Given the description of an element on the screen output the (x, y) to click on. 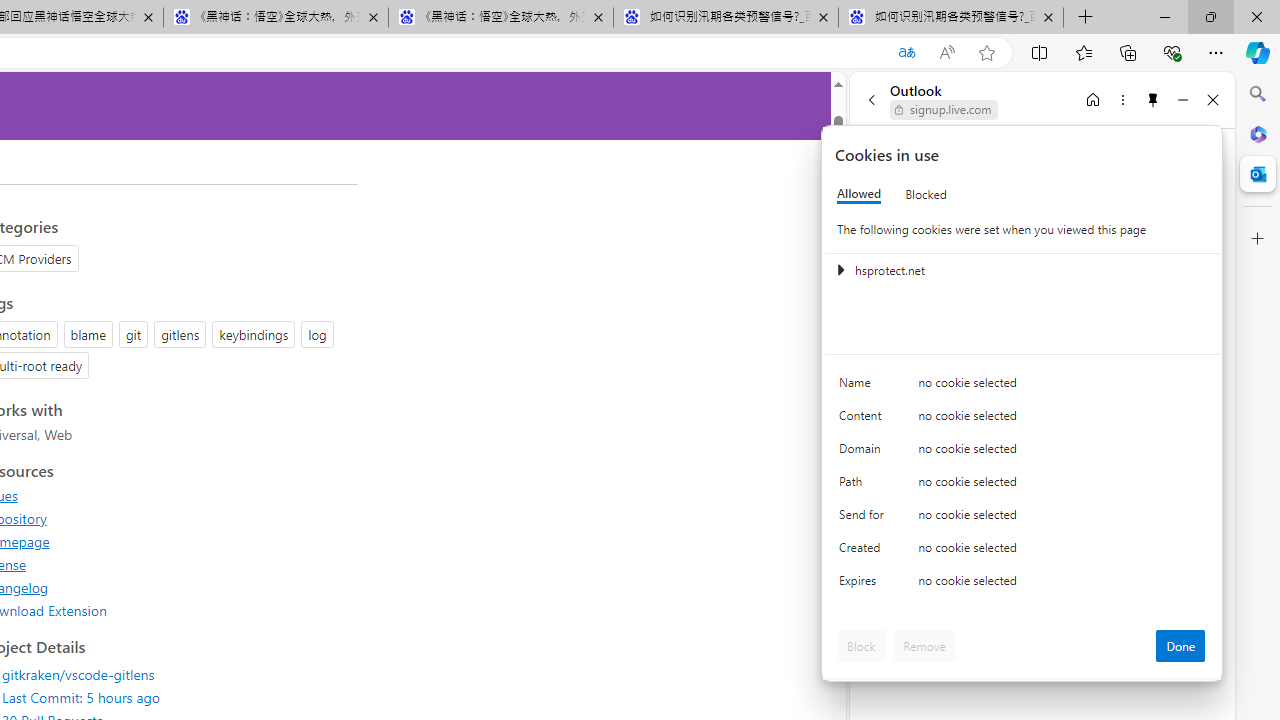
Path (864, 485)
Allowed (859, 193)
Block (861, 645)
Class: c0153 c0157 (1023, 584)
Class: c0153 c0157 c0154 (1023, 386)
Name (864, 387)
Done (1179, 645)
no cookie selected (1062, 585)
Expires (864, 585)
Created (864, 552)
Send for (864, 518)
Remove (924, 645)
Domain (864, 452)
Blocked (925, 193)
Content (864, 420)
